Given the description of an element on the screen output the (x, y) to click on. 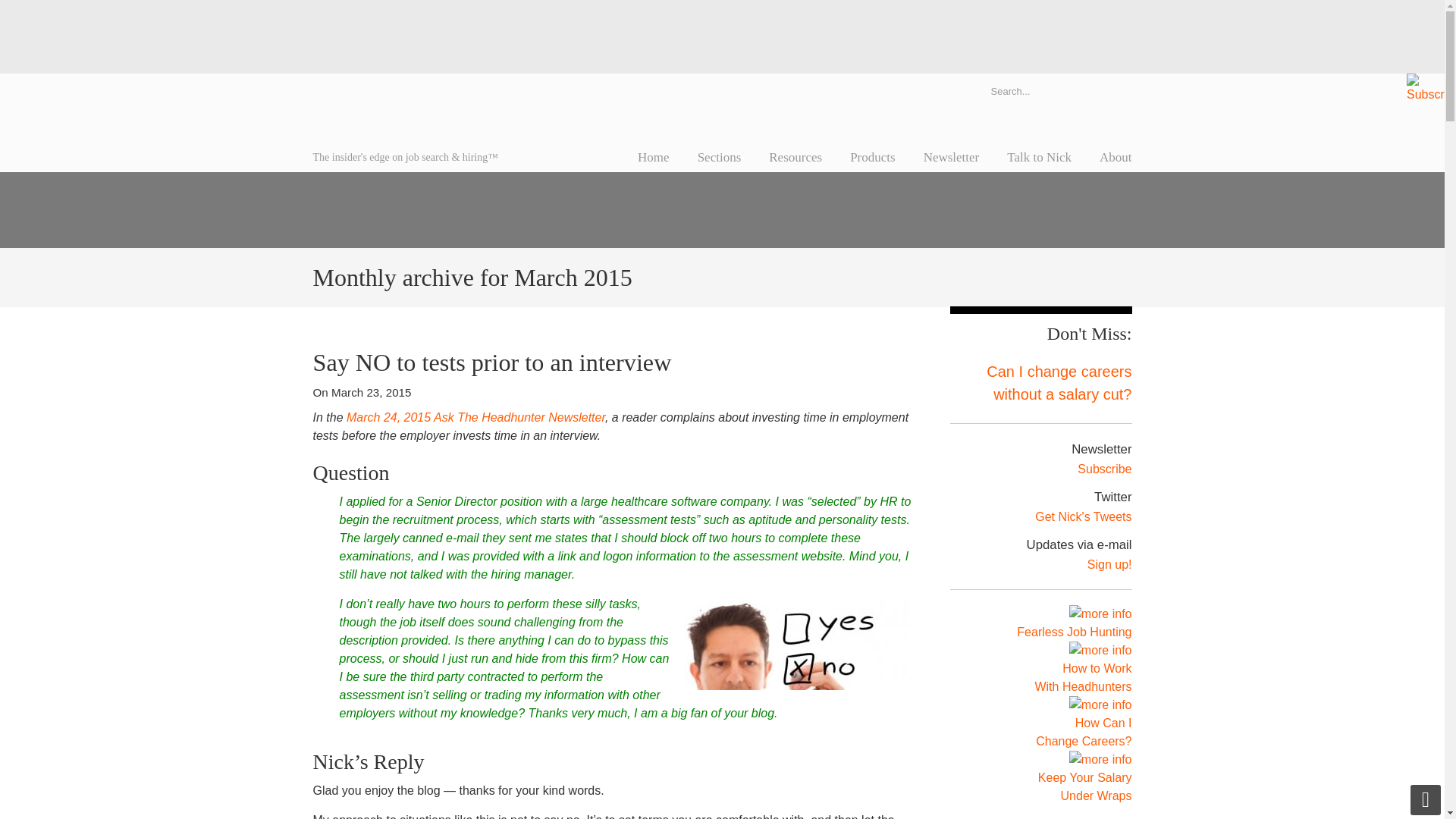
Say NO to tests prior to an interview (492, 361)
Products (872, 157)
search (1115, 90)
Say NO to tests prior to an interview (492, 361)
About (1115, 157)
March 24, 2015 Ask The Headhunter Newsletter (475, 417)
search (1115, 90)
Ask The Headhunter Newsletter (475, 417)
Newsletter (951, 157)
Talk to Nick (1038, 157)
